Given the description of an element on the screen output the (x, y) to click on. 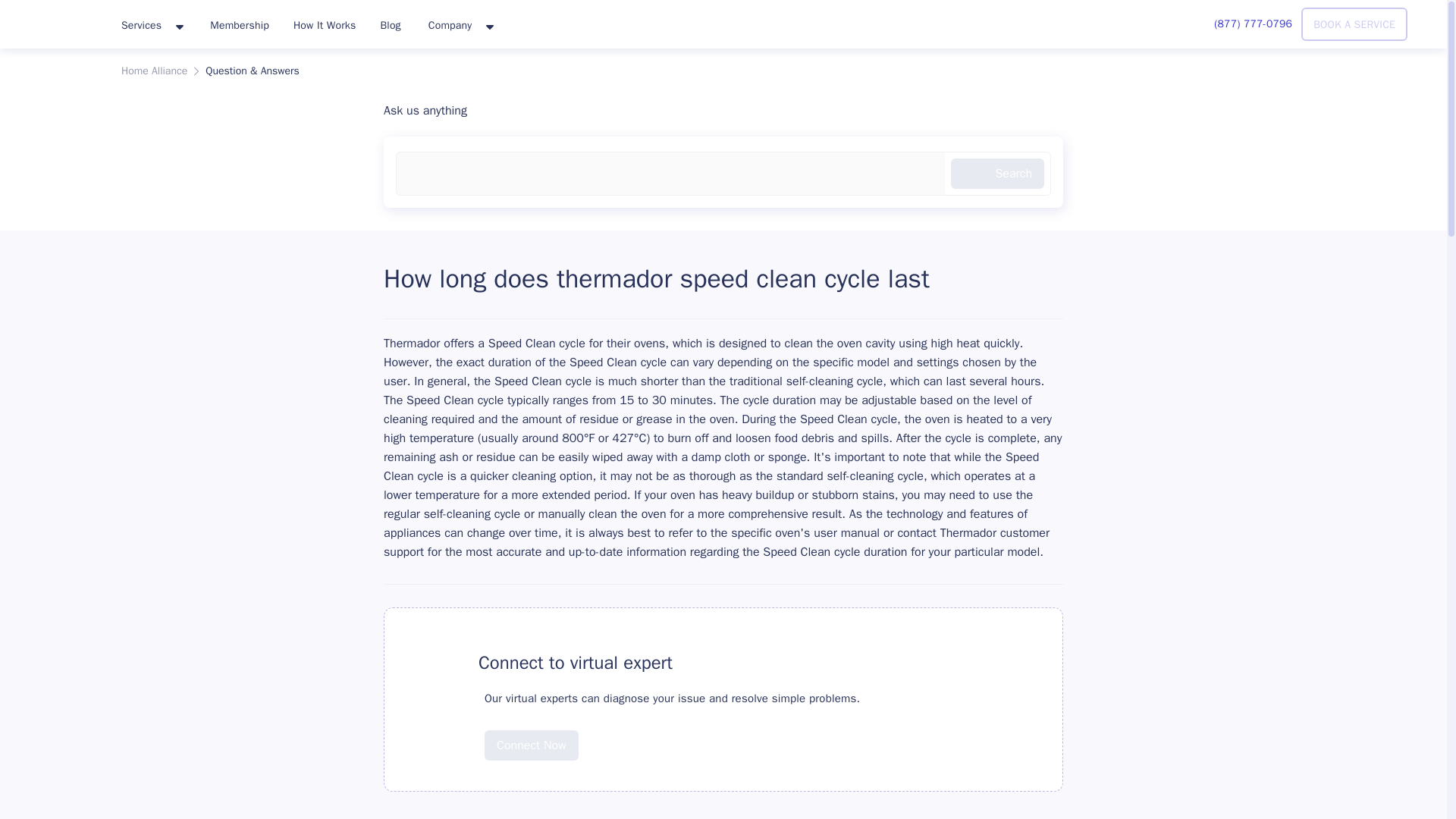
Home Alliance (153, 70)
BOOK A SERVICE (1354, 23)
HomeAlliance (55, 20)
Search (996, 173)
Company (460, 25)
How It Works (324, 24)
Connect Now (531, 745)
Membership (239, 24)
FAQ (438, 662)
Connect Now (531, 733)
Services (151, 25)
